Given the description of an element on the screen output the (x, y) to click on. 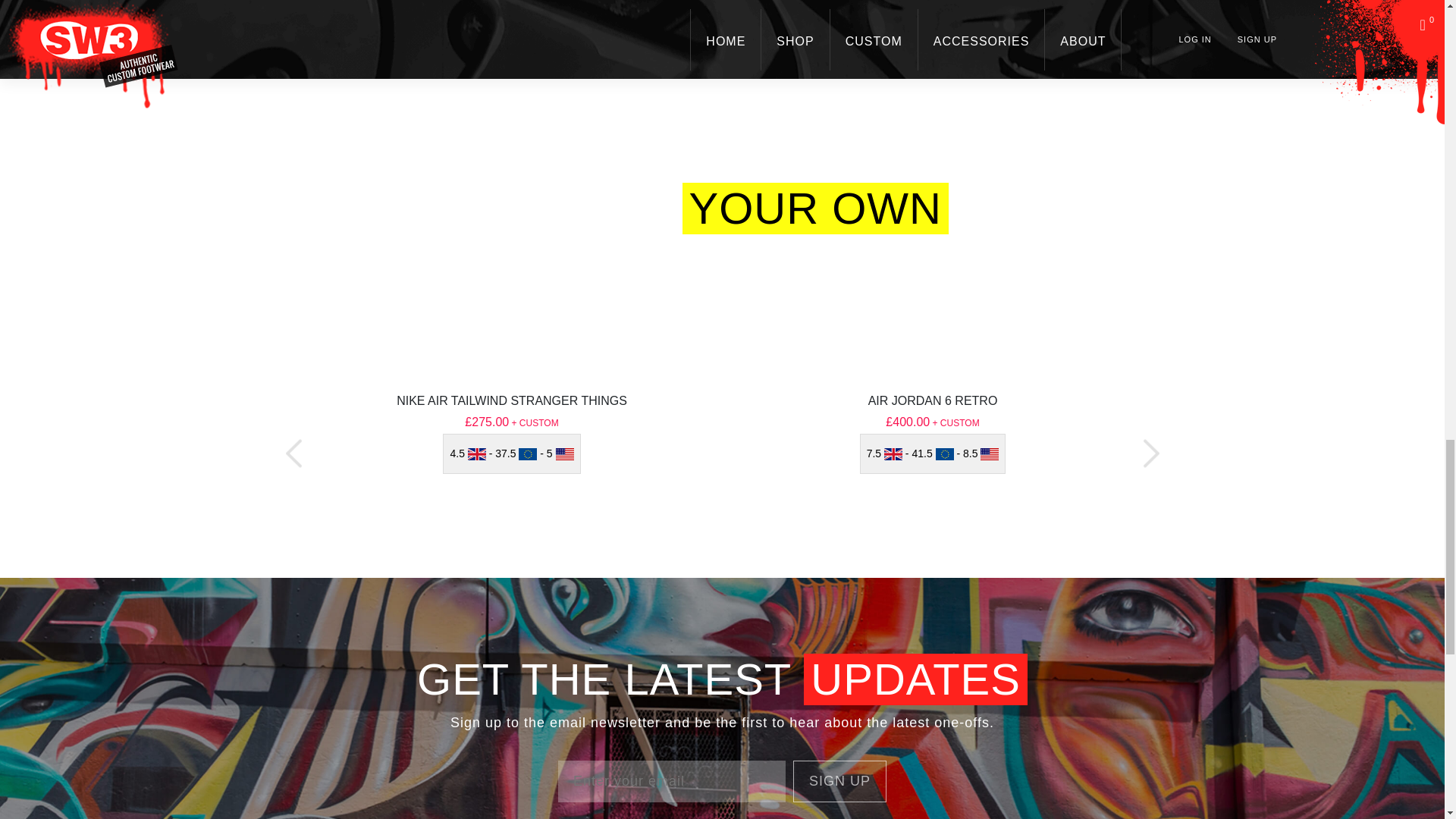
Sign Up (839, 781)
